Given the description of an element on the screen output the (x, y) to click on. 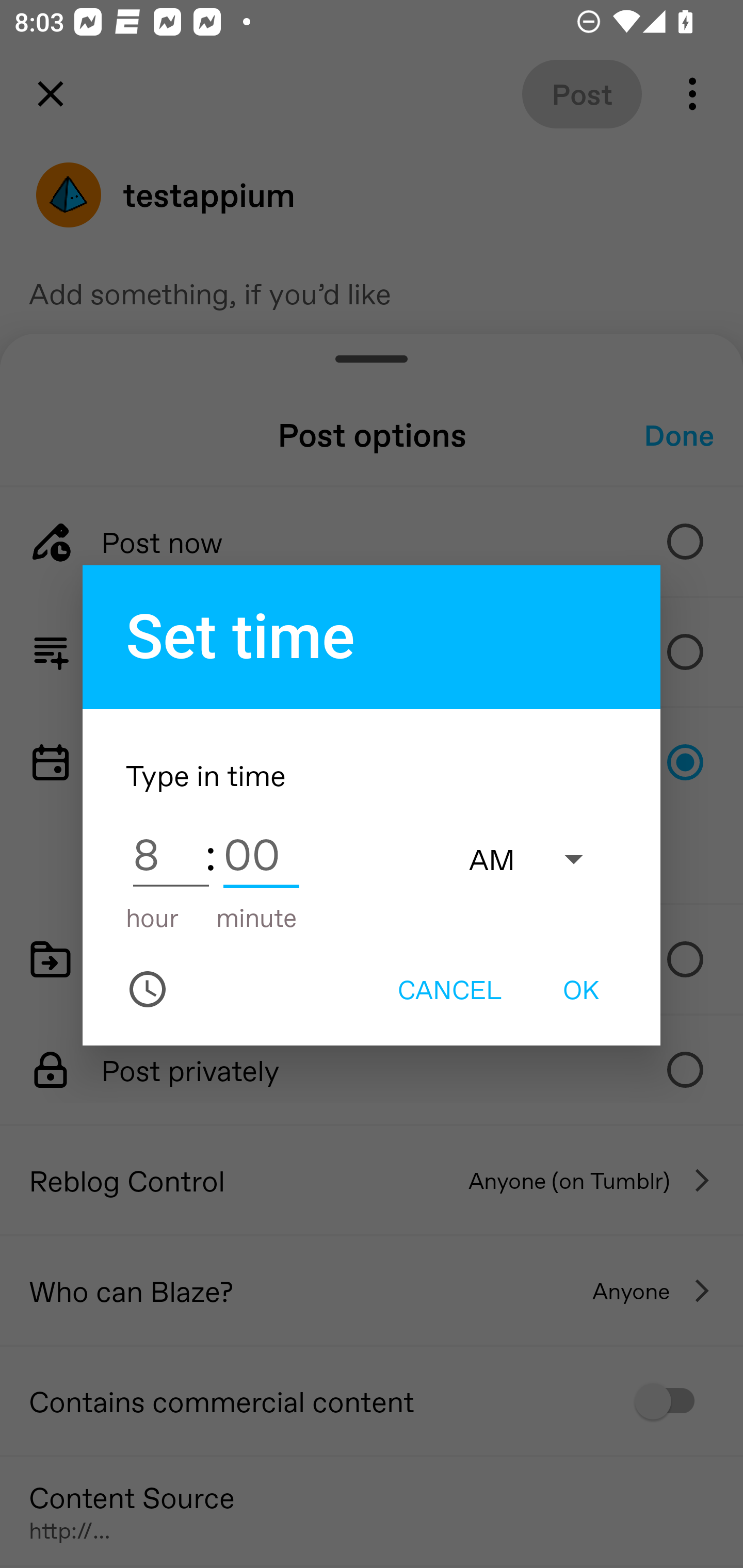
8 (170, 853)
00 (261, 853)
AM (535, 858)
CANCEL (449, 989)
OK (580, 989)
Switch to clock mode for the time input. (147, 989)
